Given the description of an element on the screen output the (x, y) to click on. 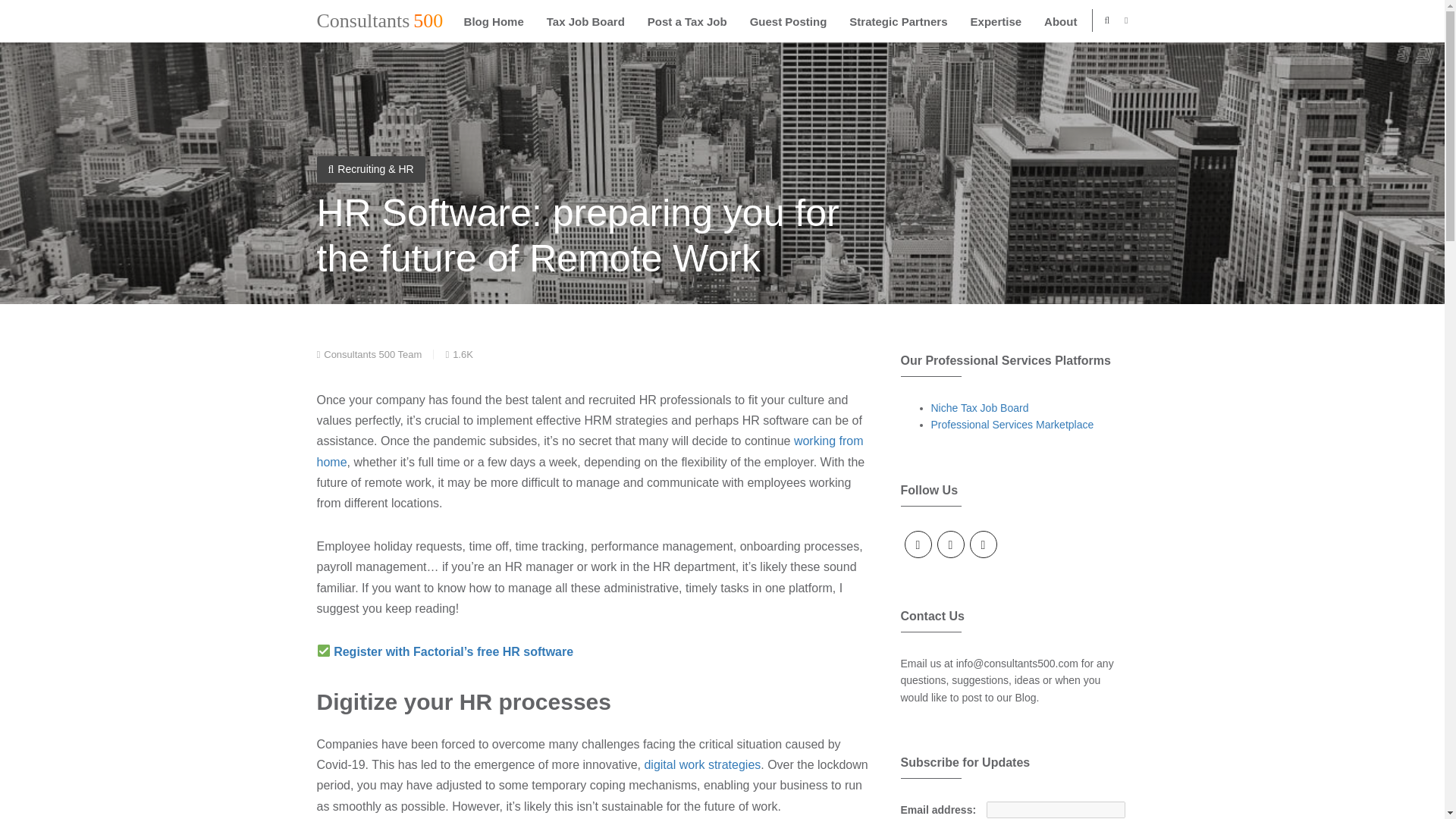
working from home (590, 450)
Consultants 500 Team (369, 354)
Tax Job Board (585, 21)
digital work strategies (701, 764)
Strategic Partners (897, 21)
Expertise (996, 21)
Guest Posting (788, 21)
Blog Home (494, 21)
Post a Tax Job (686, 21)
